Given the description of an element on the screen output the (x, y) to click on. 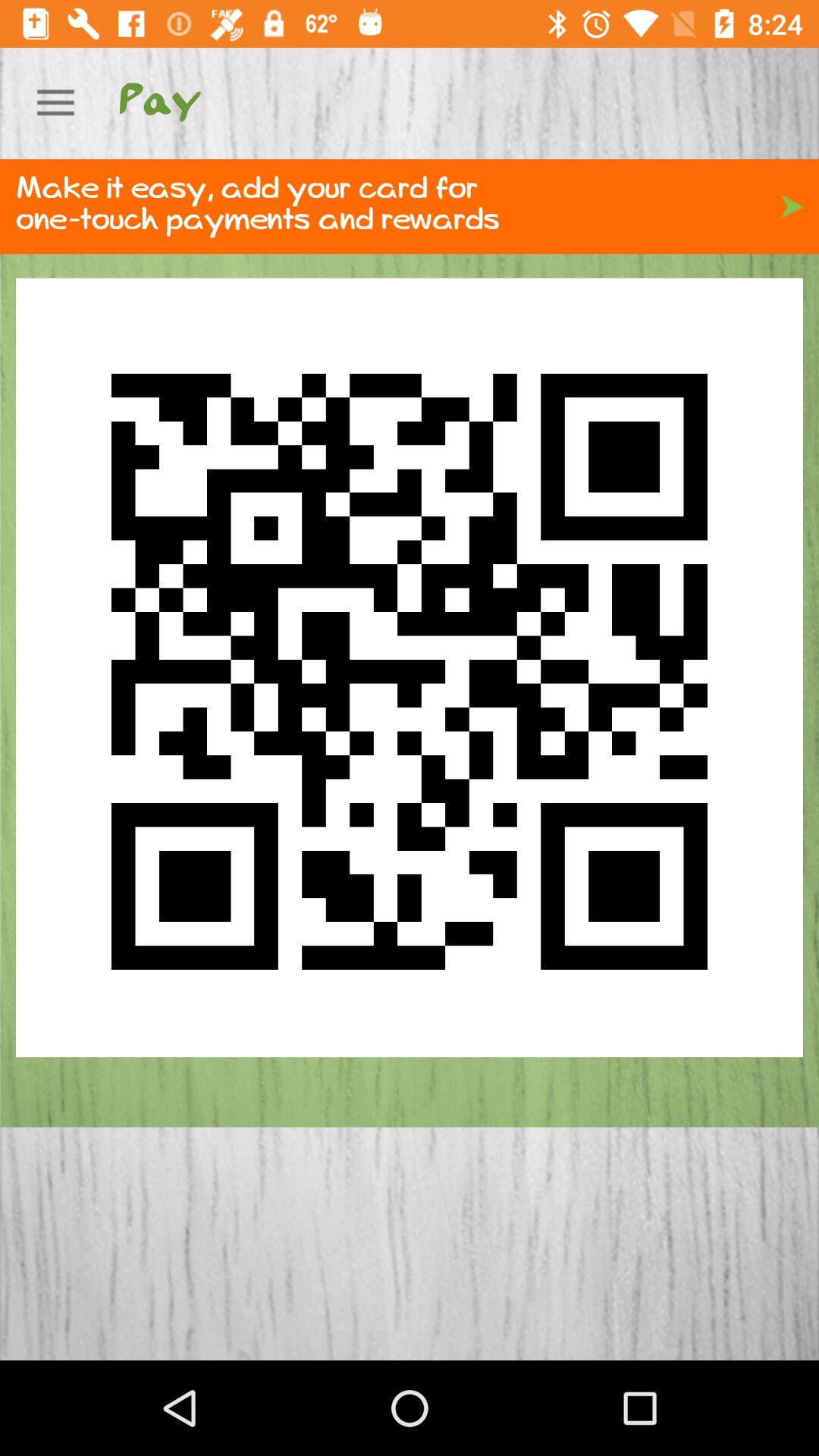
open icon below make it easy icon (409, 667)
